Given the description of an element on the screen output the (x, y) to click on. 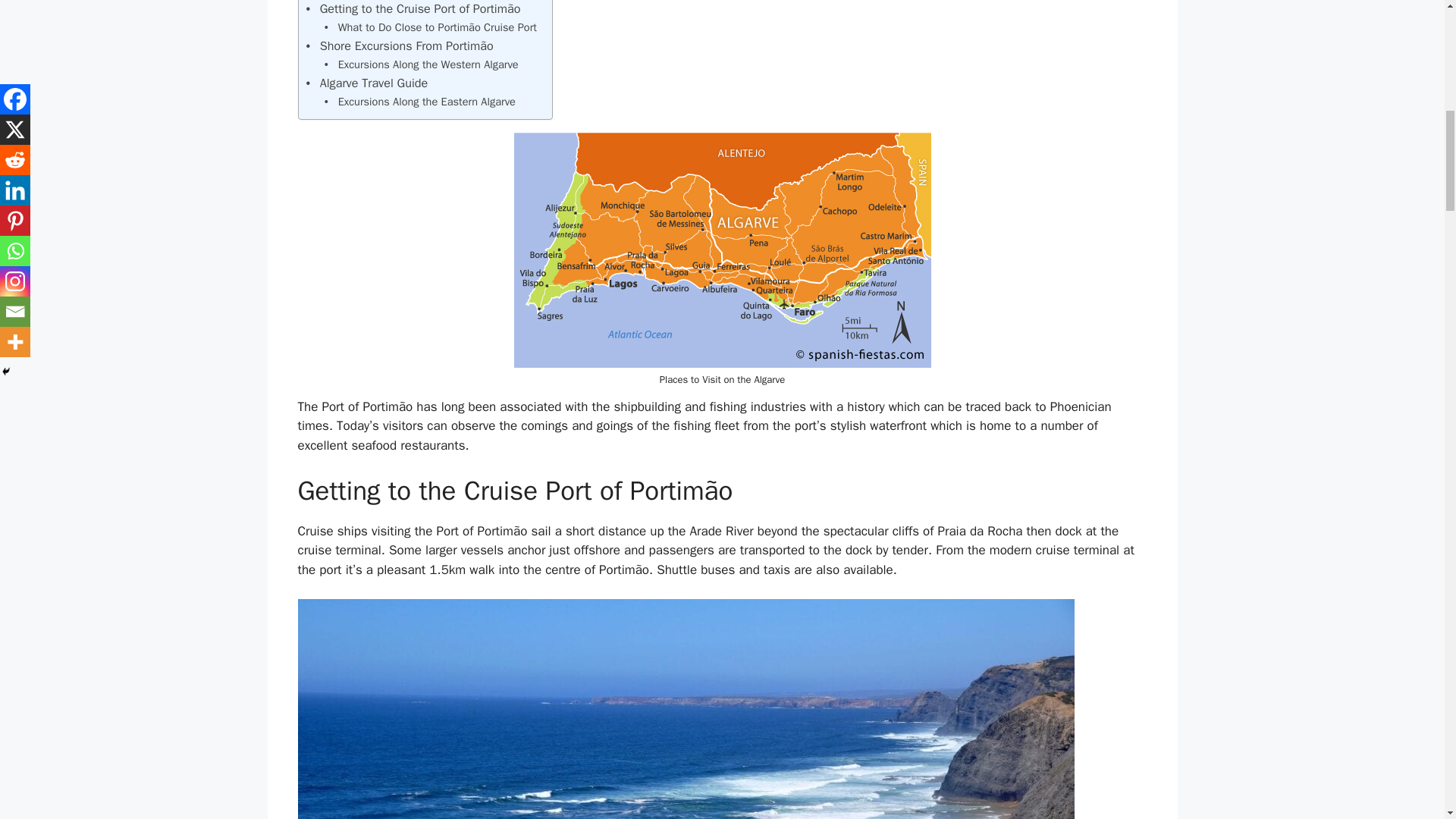
Excursions Along the Western Algarve (421, 64)
Excursions Along the Eastern Algarve (419, 101)
Excursions Along the Eastern Algarve (419, 101)
Algarve Travel Guide (366, 83)
Excursions Along the Western Algarve (421, 64)
Algarve Travel Guide (366, 83)
